Given the description of an element on the screen output the (x, y) to click on. 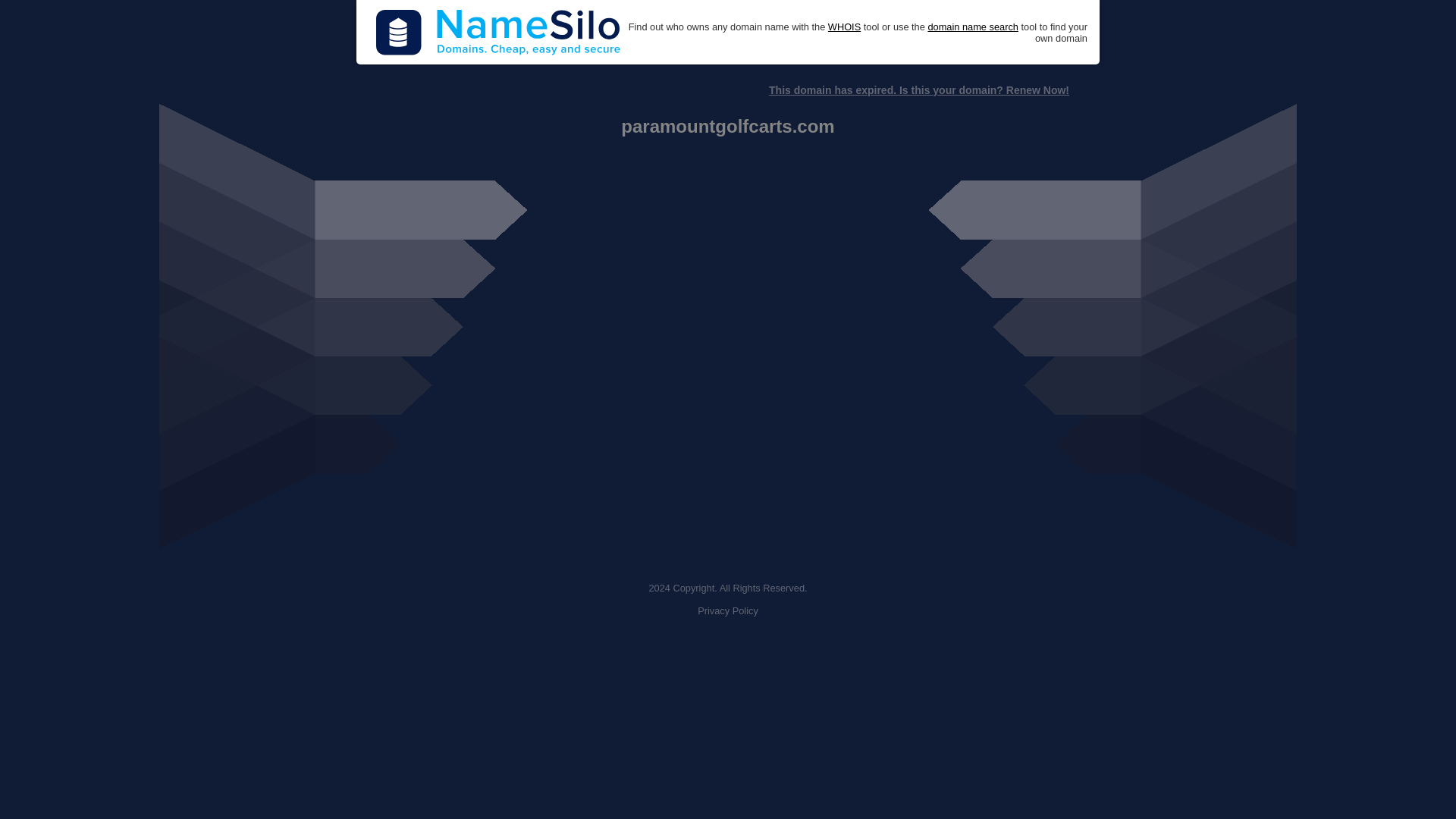
Privacy Policy (727, 610)
WHOIS (844, 26)
domain name search (972, 26)
This domain has expired. Is this your domain? Renew Now! (918, 90)
